Given the description of an element on the screen output the (x, y) to click on. 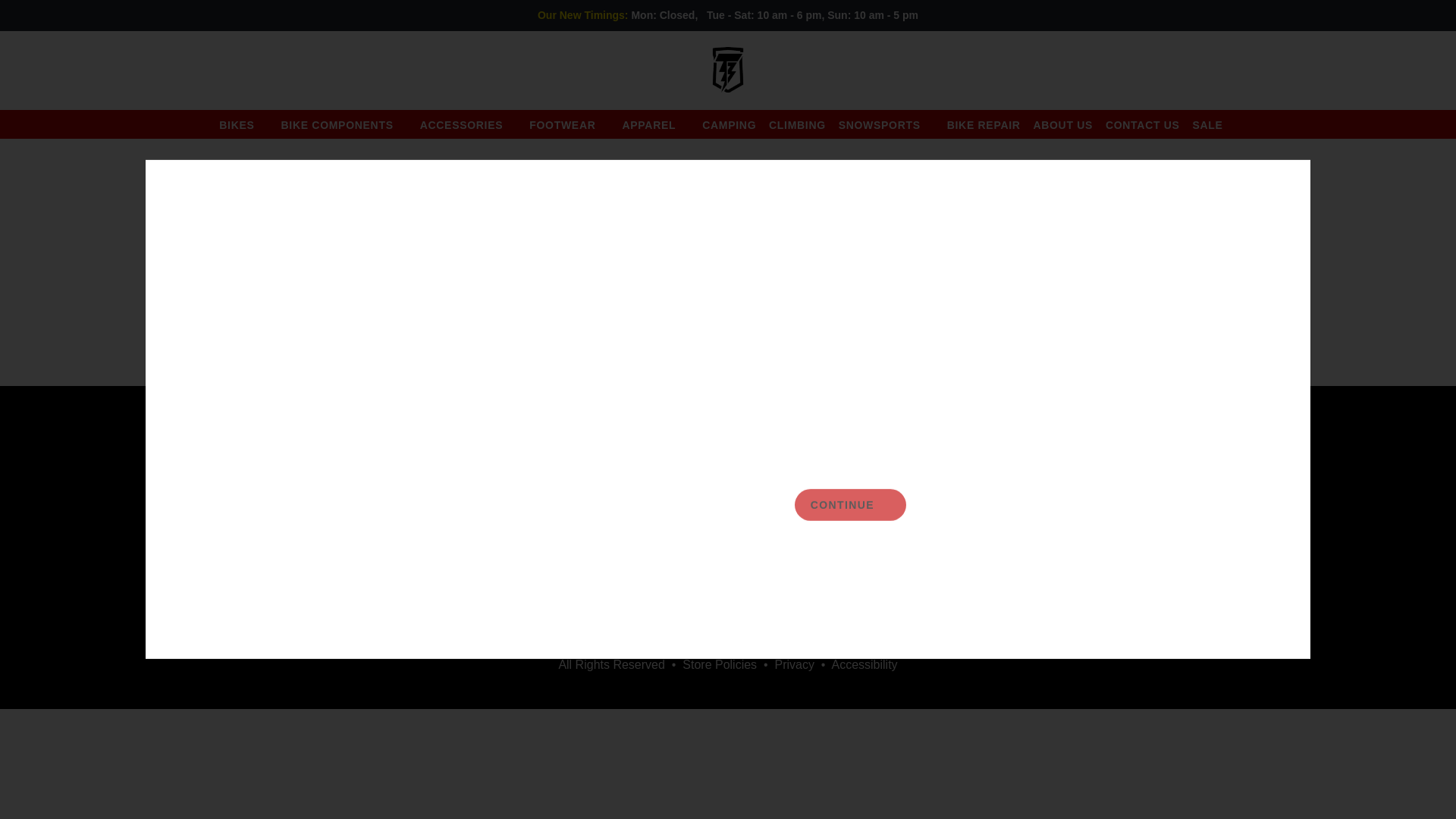
CART (1422, 68)
BIKES (243, 125)
SEARCH (39, 68)
LOG IN (1357, 68)
Contact (358, 540)
BIKE COMPONENTS (344, 125)
